Given the description of an element on the screen output the (x, y) to click on. 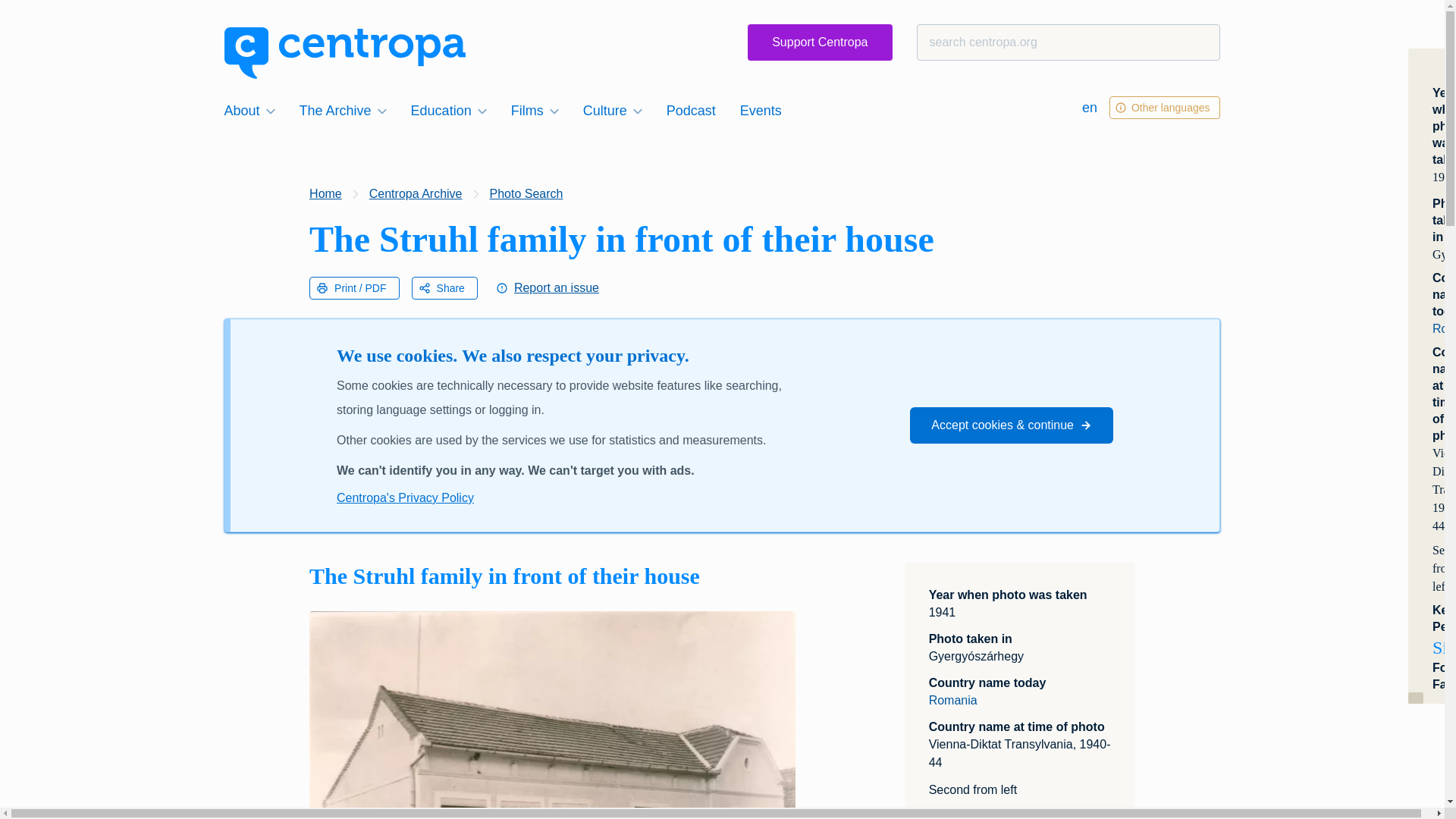
About (249, 110)
Films (534, 110)
Support Centropa (820, 42)
Events (760, 110)
Culture (611, 110)
The Archive (343, 110)
Search (40, 18)
Support Centropa (820, 42)
Education (448, 110)
